Given the description of an element on the screen output the (x, y) to click on. 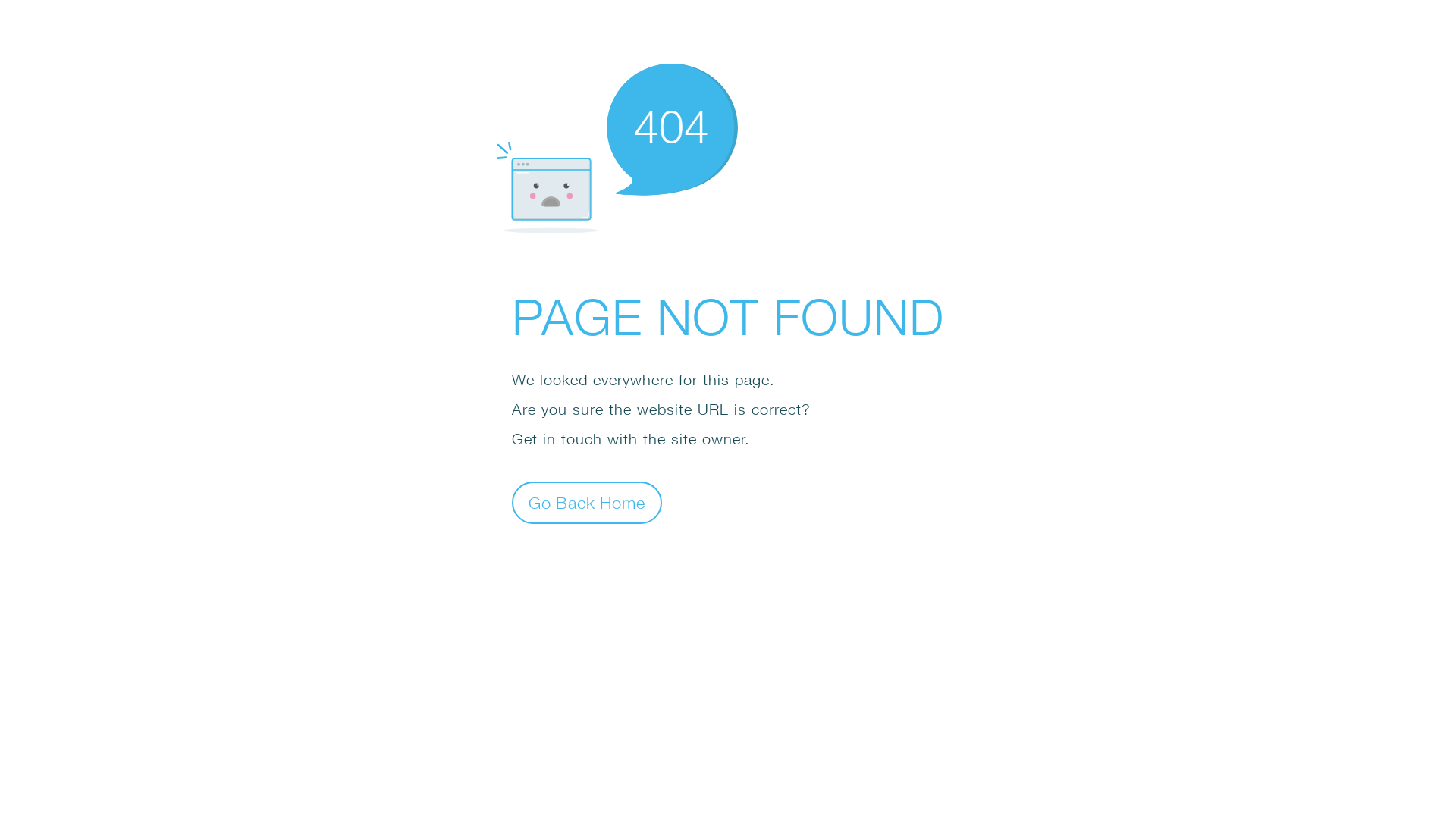
Go Back Home Element type: text (586, 502)
